Given the description of an element on the screen output the (x, y) to click on. 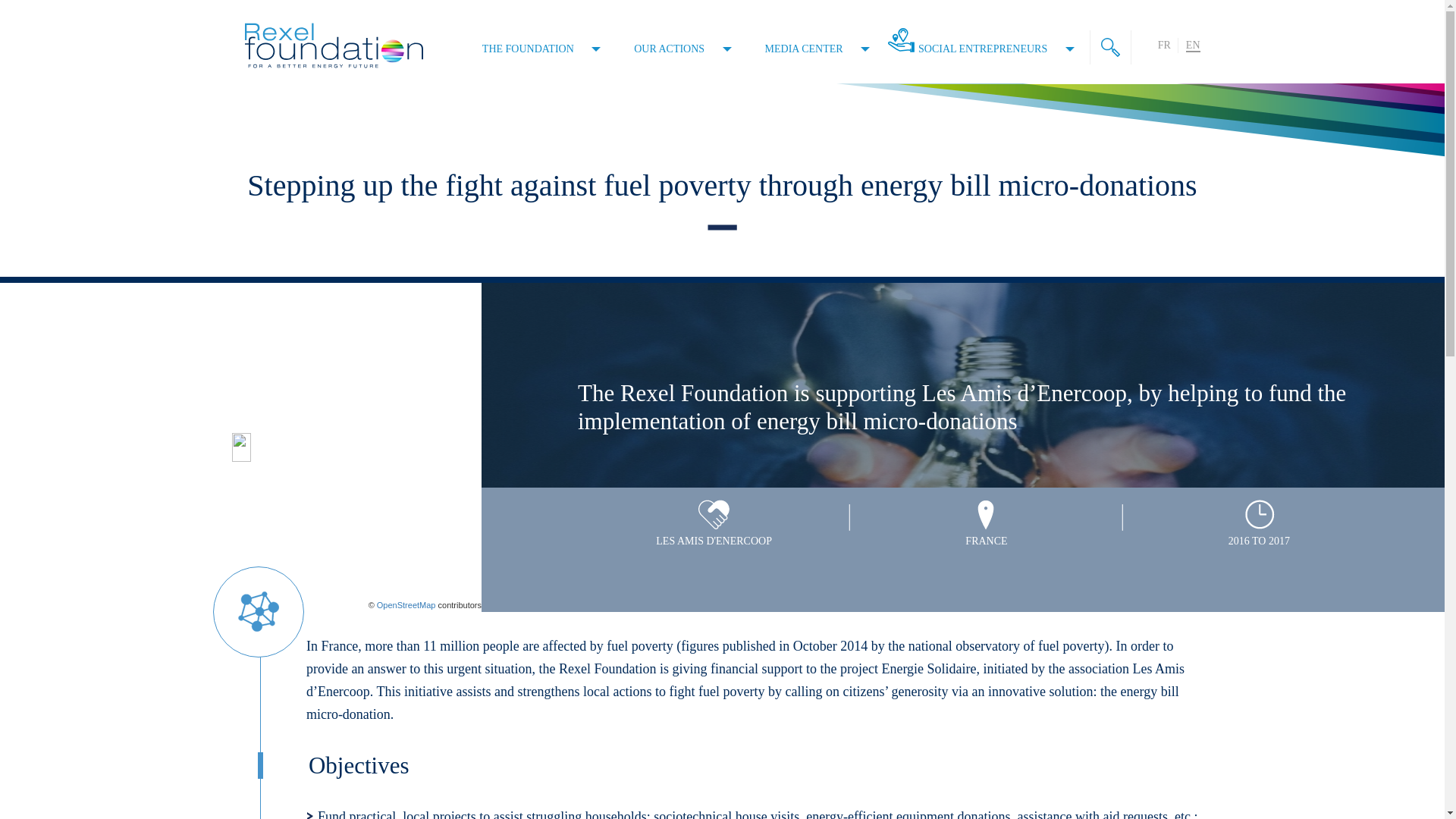
Home (333, 45)
OUR ACTIONS (681, 47)
THE FOUNDATION (541, 47)
